Given the description of an element on the screen output the (x, y) to click on. 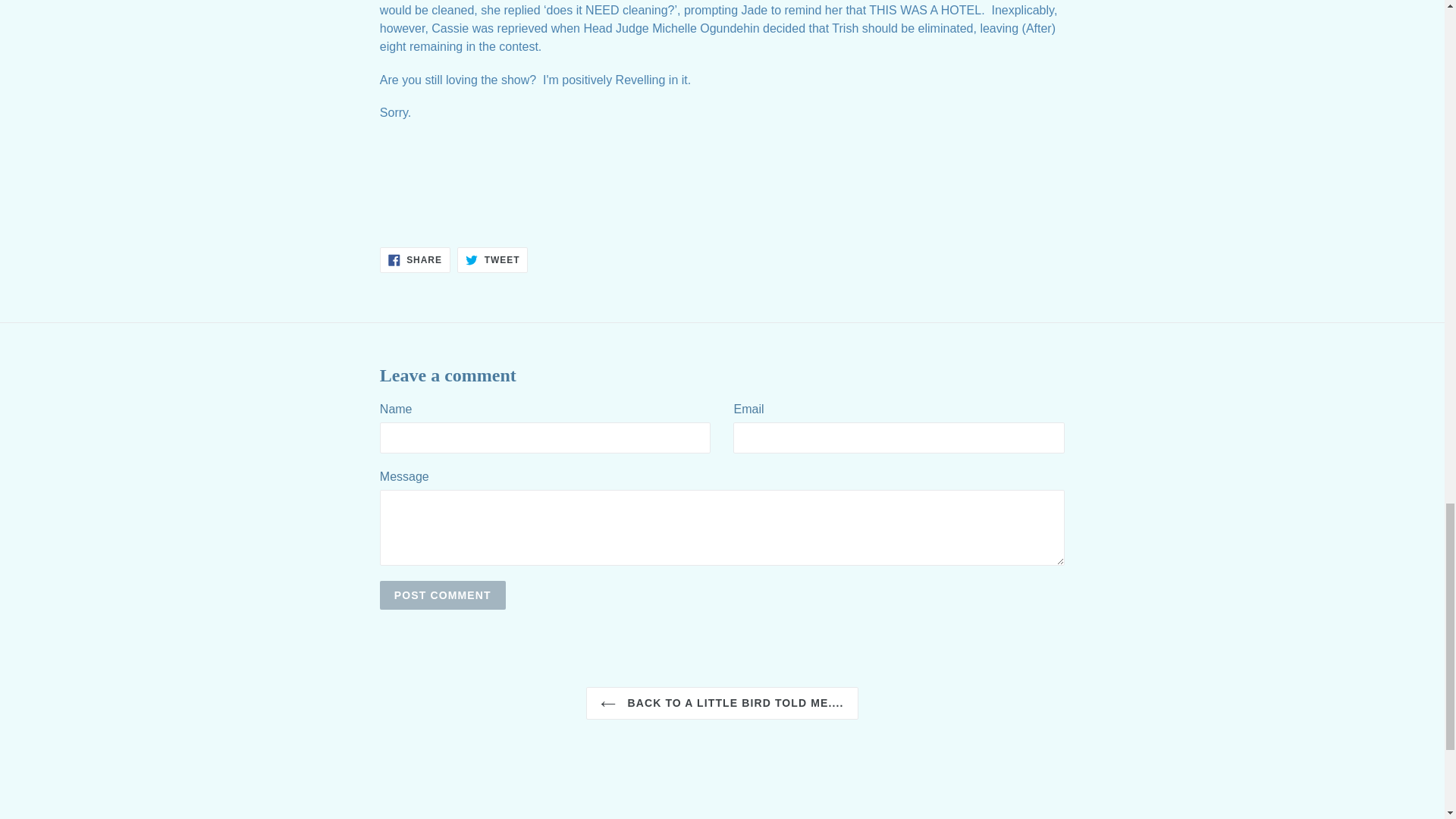
Post comment (442, 595)
Tweet on Twitter (492, 259)
Share on Facebook (414, 259)
